Given the description of an element on the screen output the (x, y) to click on. 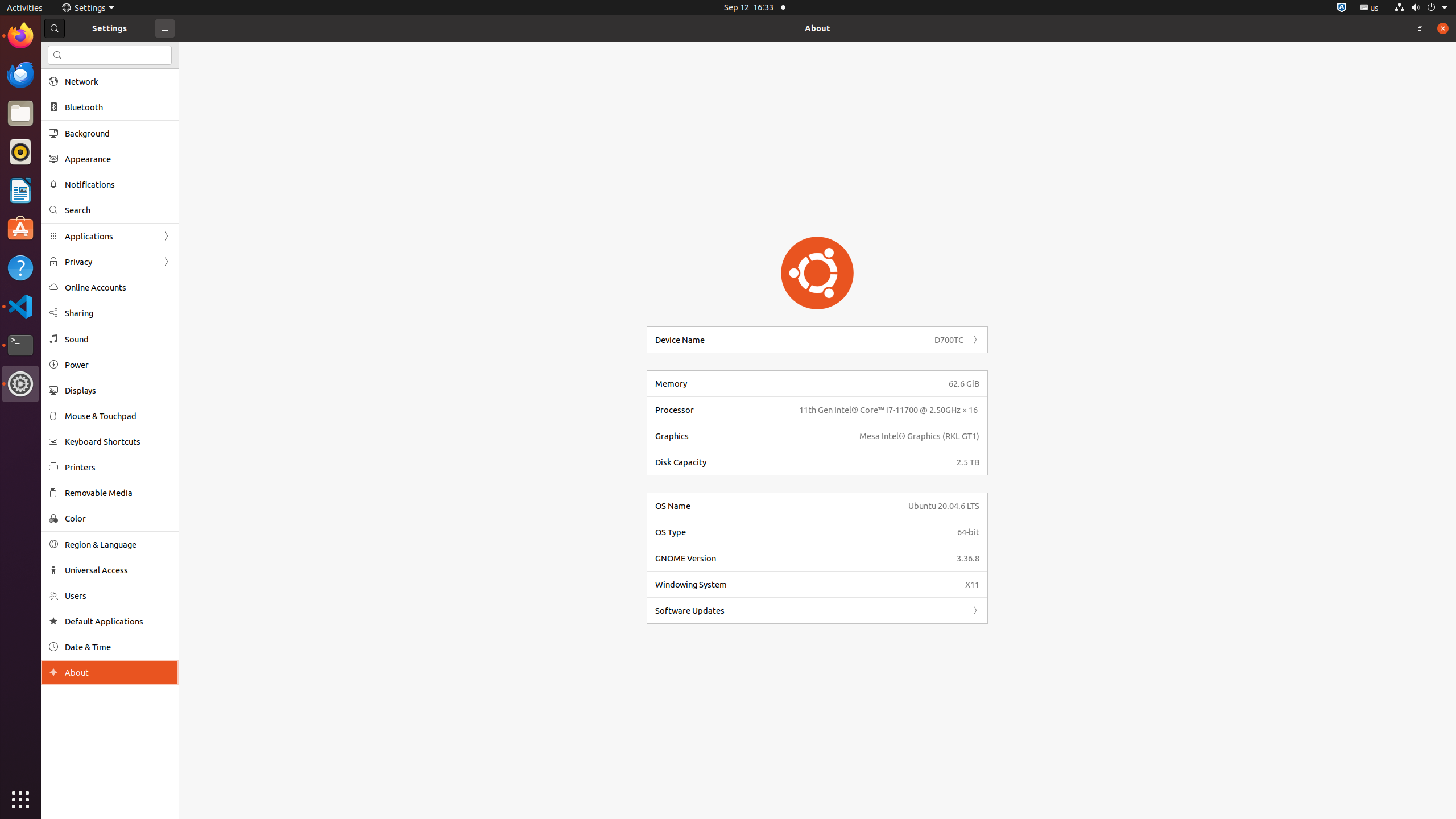
OS Type Element type: label (802, 531)
X11 Element type: label (972, 584)
li.txt Element type: label (146, 50)
Background Element type: label (117, 133)
